Given the description of an element on the screen output the (x, y) to click on. 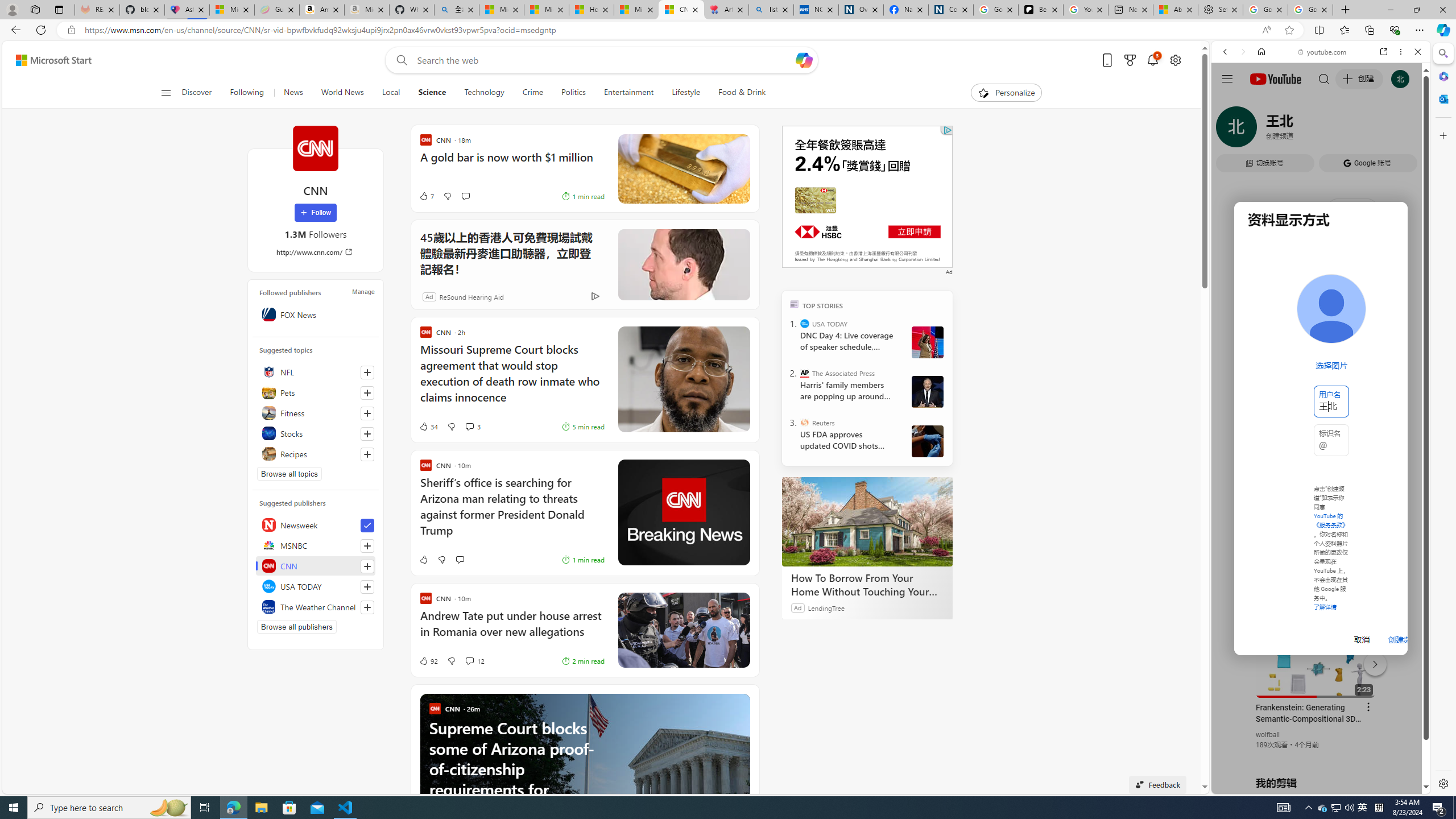
Class: qc-adchoices-icon (947, 130)
The Weather Channel (315, 606)
Aberdeen, Hong Kong SAR hourly forecast | Microsoft Weather (1175, 9)
Food & Drink (741, 92)
#you (1320, 253)
A gold bar is now worth $1 million (511, 163)
NFL (315, 371)
YouTube (1315, 655)
